Given the description of an element on the screen output the (x, y) to click on. 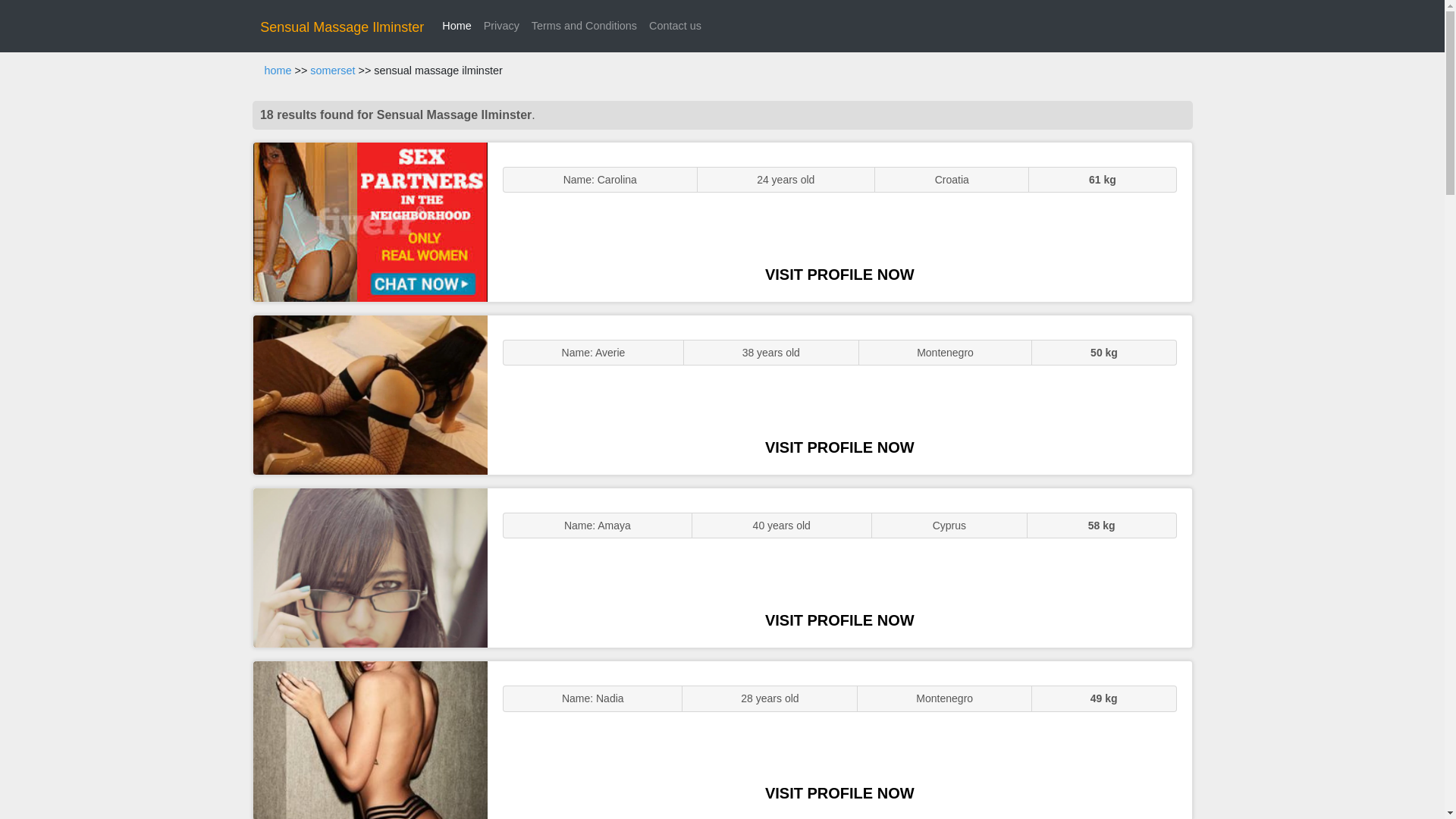
VISIT PROFILE NOW (839, 274)
Terms and Conditions (584, 25)
GFE (370, 395)
Sensual Massage Ilminster (341, 27)
VISIT PROFILE NOW (839, 446)
Sluts (370, 739)
 ENGLISH STUNNER (370, 222)
Privacy (501, 25)
VISIT PROFILE NOW (839, 619)
somerset (332, 70)
